Given the description of an element on the screen output the (x, y) to click on. 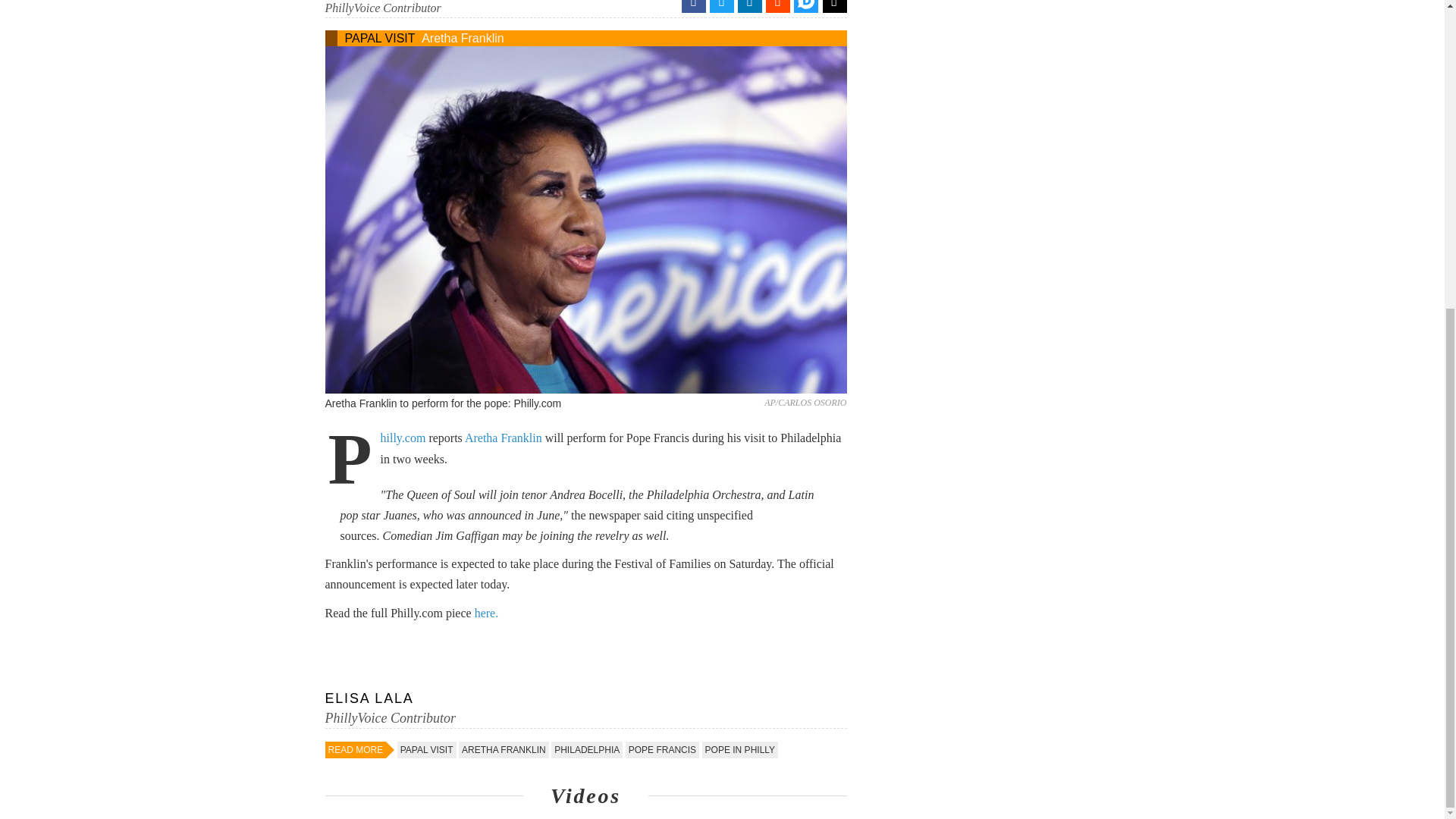
Comments (805, 9)
Twitter (721, 6)
LinkedIn (749, 6)
Reddit (777, 6)
Email (833, 6)
Facebook (693, 6)
